Given the description of an element on the screen output the (x, y) to click on. 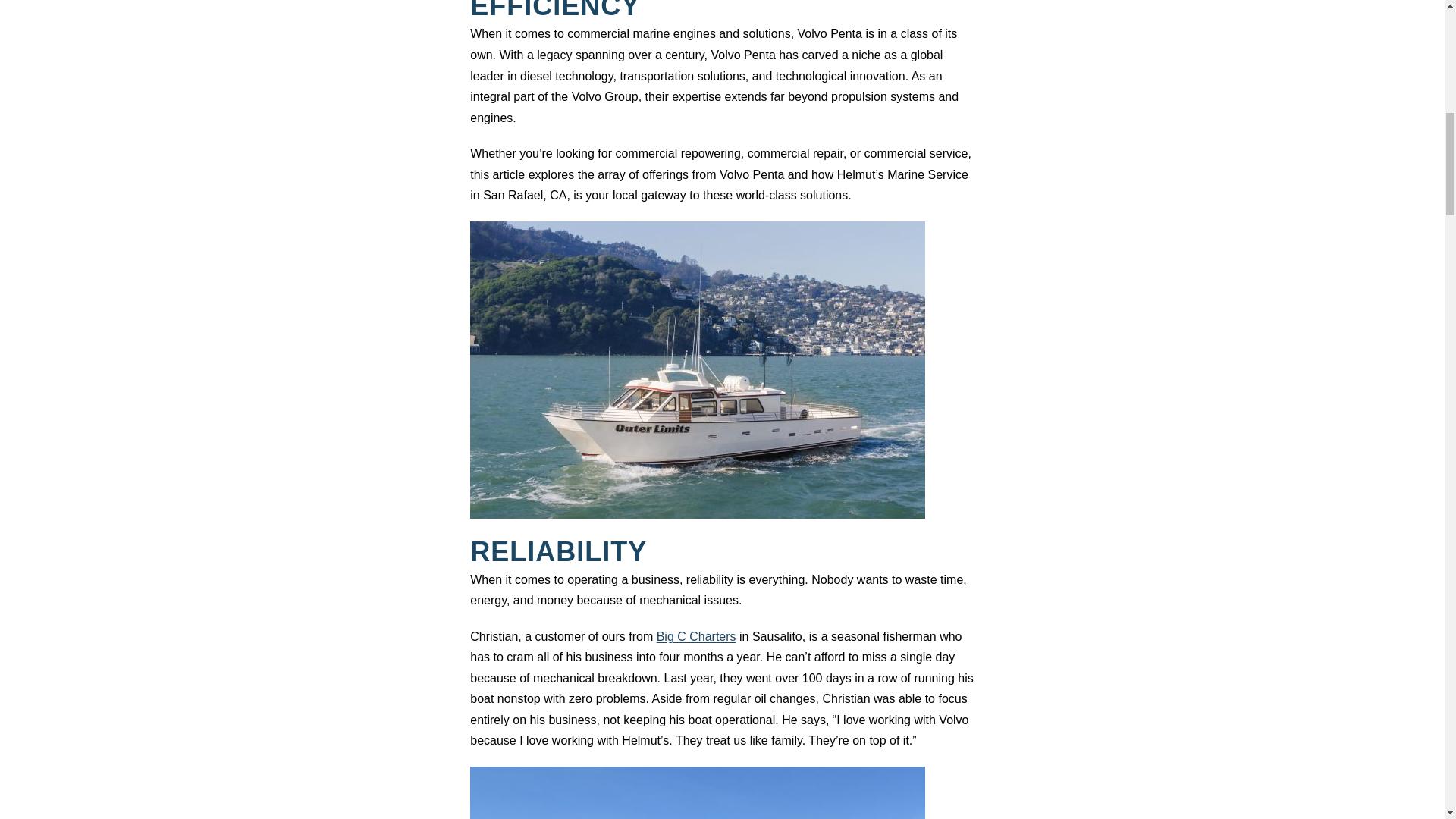
Big C Charters (696, 635)
